Given the description of an element on the screen output the (x, y) to click on. 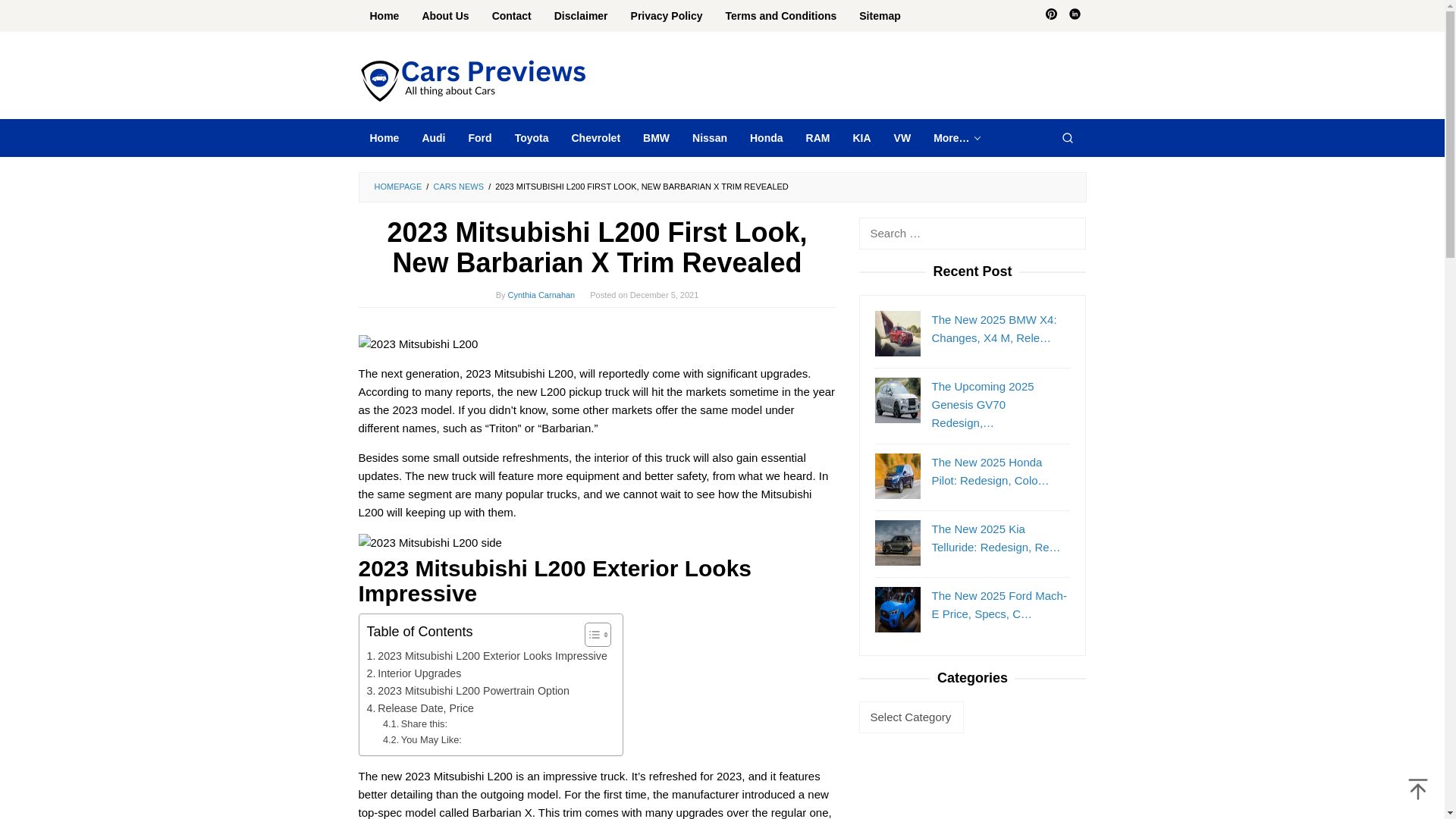
2023 Mitsubishi L200 Powertrain Option (467, 691)
Audi (433, 137)
About Us (445, 15)
RAM (817, 137)
Permalink to: Cynthia Carnahan (541, 294)
Home (384, 137)
2023 Mitsubishi L200 (417, 343)
2023 Mitsubishi L200 Exterior Looks Impressive (486, 656)
Terms and Conditions (781, 15)
2023 Mitsubishi L200 Exterior Looks Impressive (486, 656)
Privacy Policy (667, 15)
Nissan (709, 137)
Honda (766, 137)
Disclaimer (581, 15)
Chevrolet (595, 137)
